Given the description of an element on the screen output the (x, y) to click on. 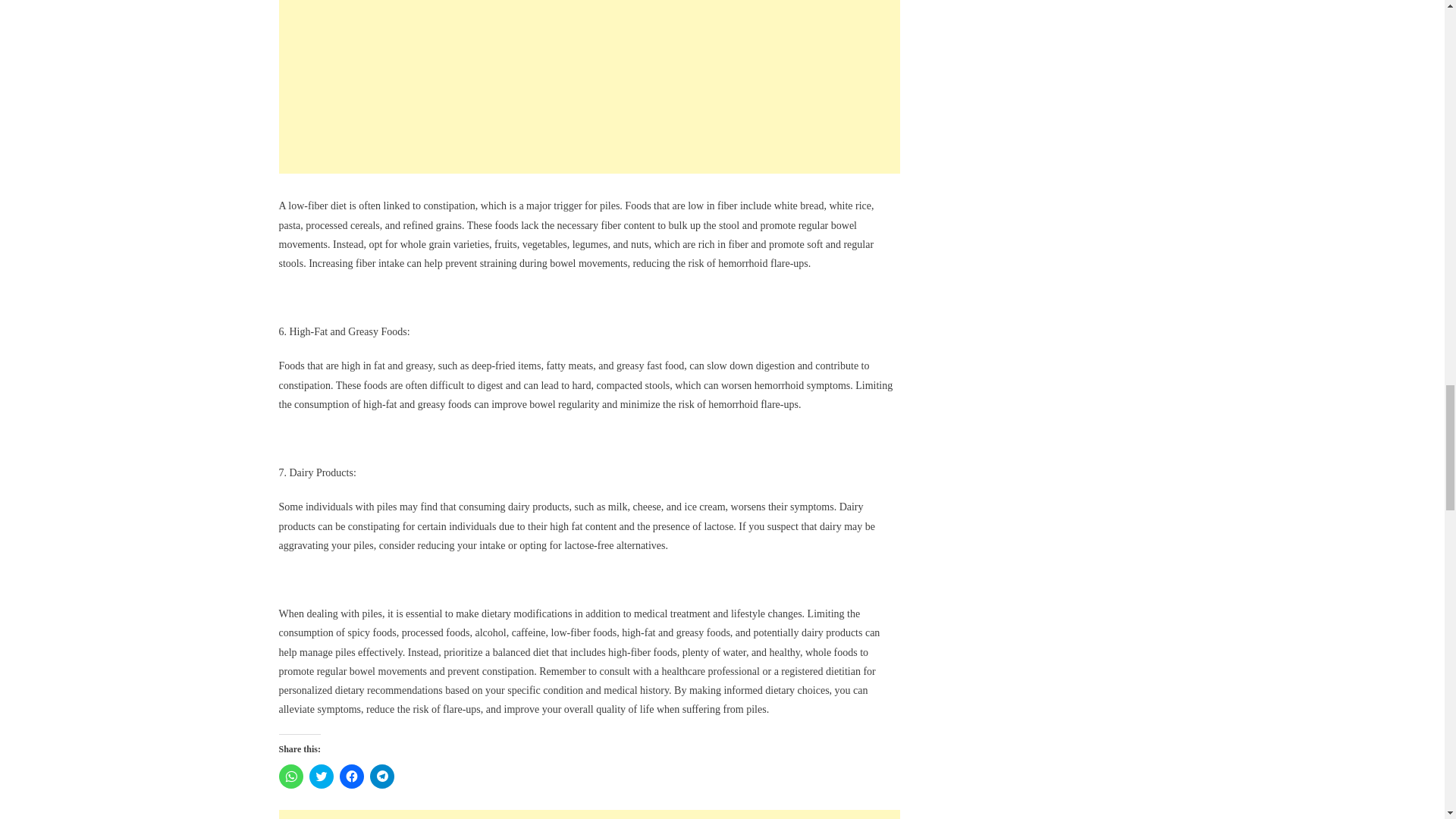
Click to share on Facebook (351, 776)
Click to share on Telegram (381, 776)
Click to share on Twitter (320, 776)
Click to share on WhatsApp (290, 776)
